Given the description of an element on the screen output the (x, y) to click on. 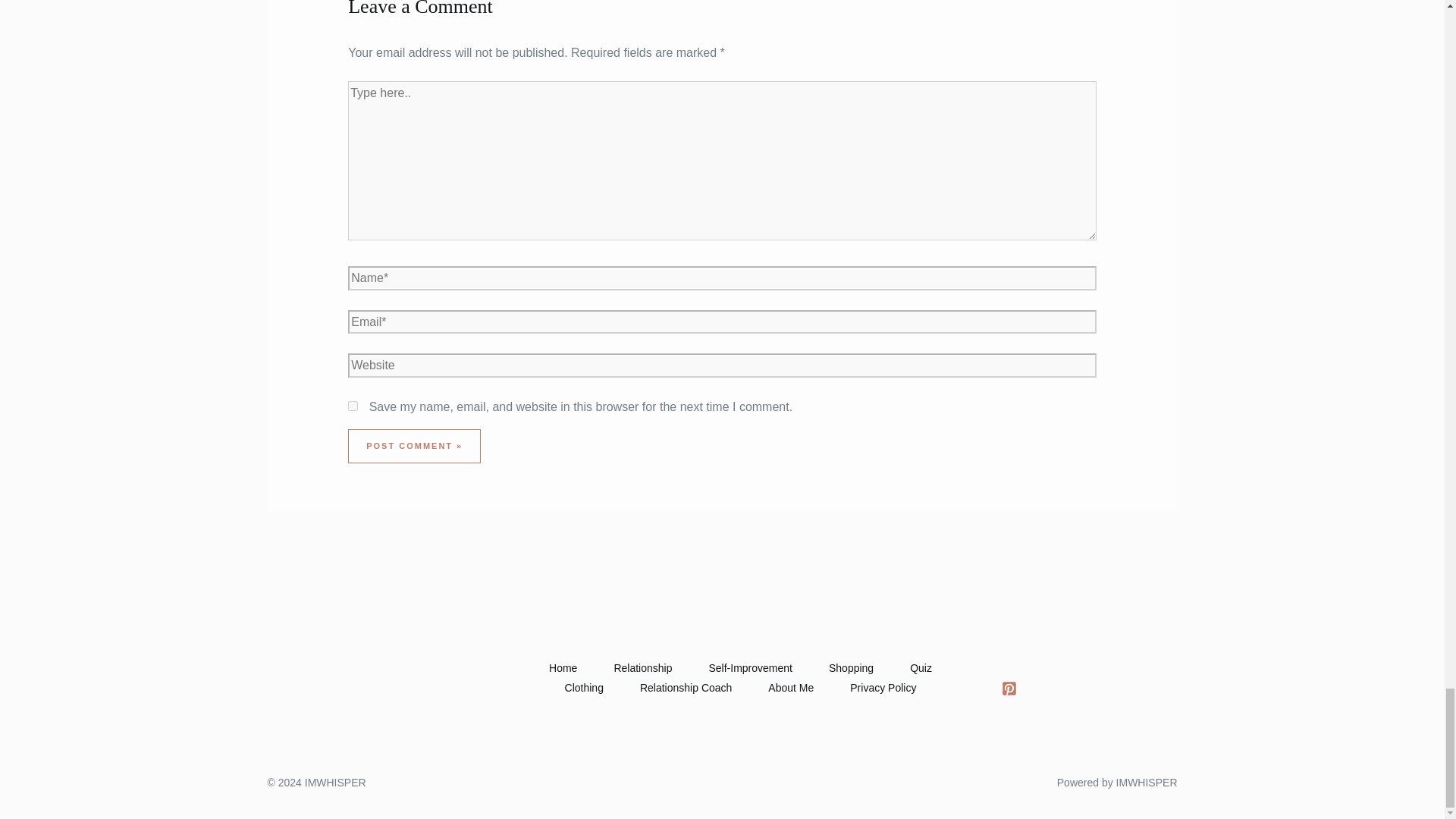
About Me (790, 688)
Self-Improvement (749, 668)
Quiz (920, 668)
Privacy Policy (882, 688)
Home (563, 668)
yes (352, 406)
Shopping (850, 668)
Relationship (642, 668)
Clothing (584, 688)
Relationship Coach (685, 688)
